Given the description of an element on the screen output the (x, y) to click on. 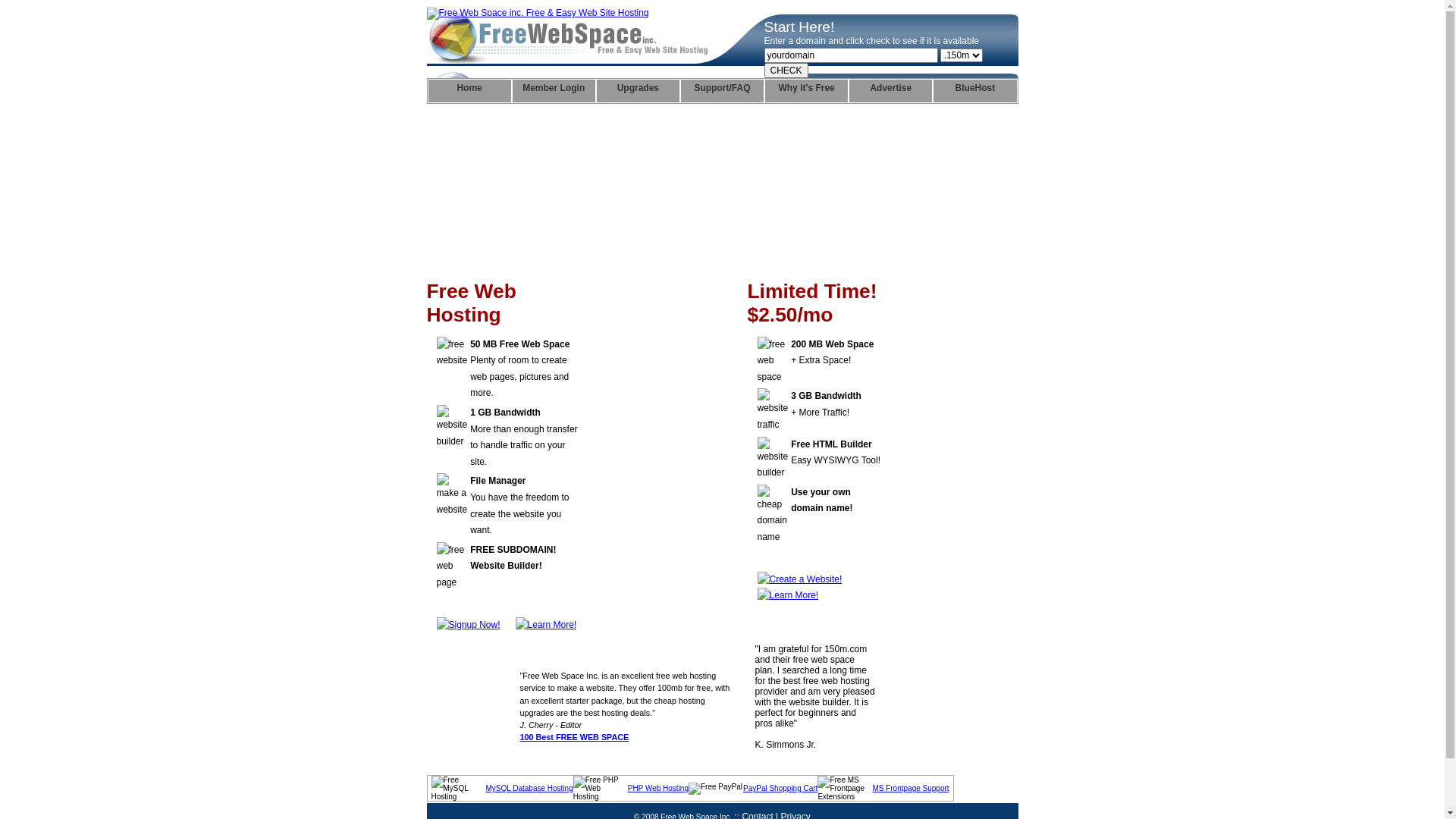
Member Login Element type: text (553, 90)
100 Best FREE WEB SPACE Element type: text (574, 736)
CHECK Element type: text (786, 70)
Why it's Free Element type: text (806, 90)
Advertise Element type: text (890, 90)
MySQL Database Hosting Element type: text (528, 788)
MS Frontpage Support Element type: text (910, 788)
Upgrades Element type: text (637, 90)
Support/FAQ Element type: text (721, 90)
PHP Web Hosting Element type: text (657, 788)
PayPal Shopping Cart Element type: text (780, 788)
BlueHost Element type: text (974, 90)
Home Element type: text (468, 90)
